Given the description of an element on the screen output the (x, y) to click on. 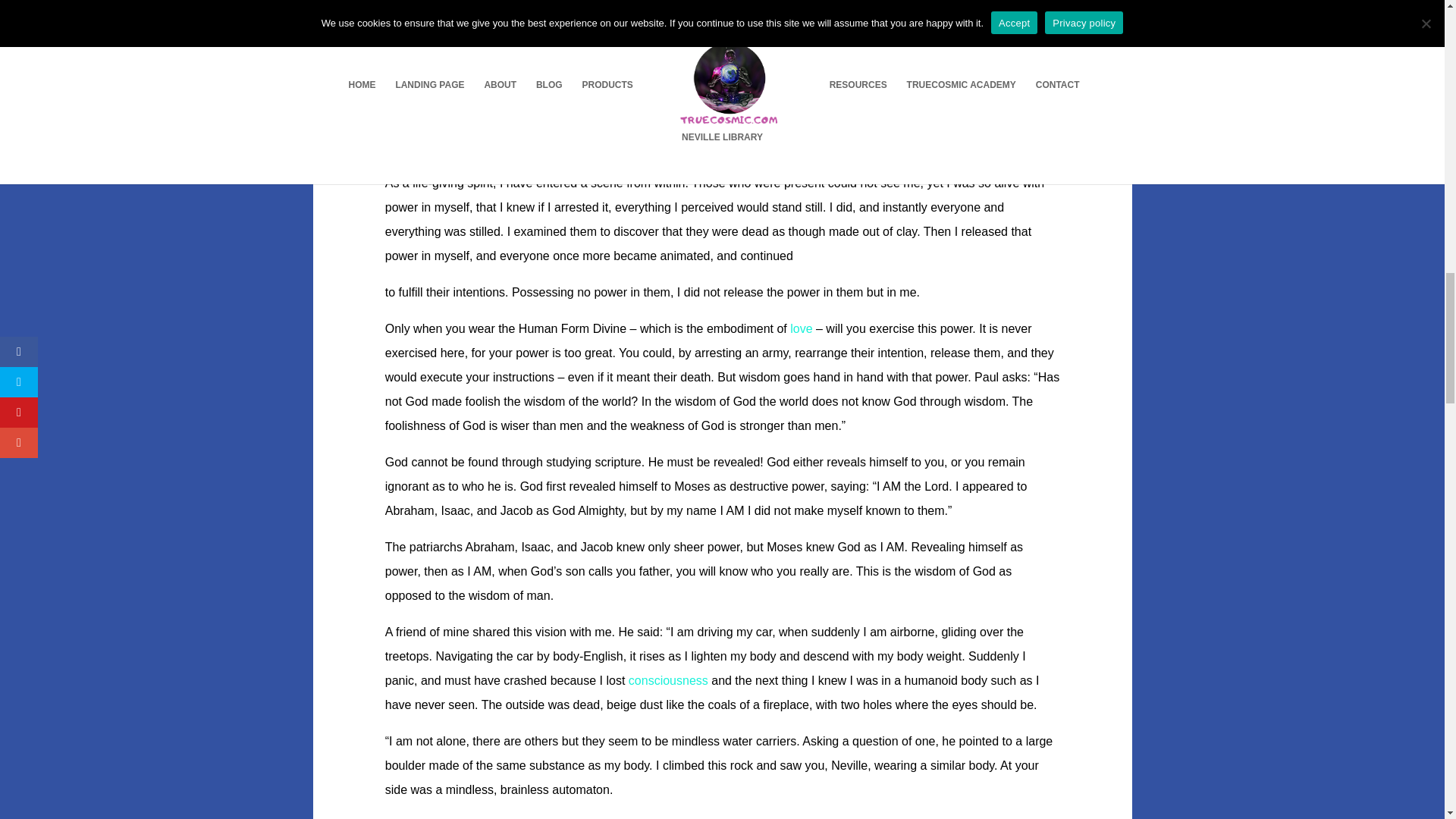
imagination (667, 680)
love and relationships (801, 328)
consciousness (667, 680)
love (801, 328)
